Given the description of an element on the screen output the (x, y) to click on. 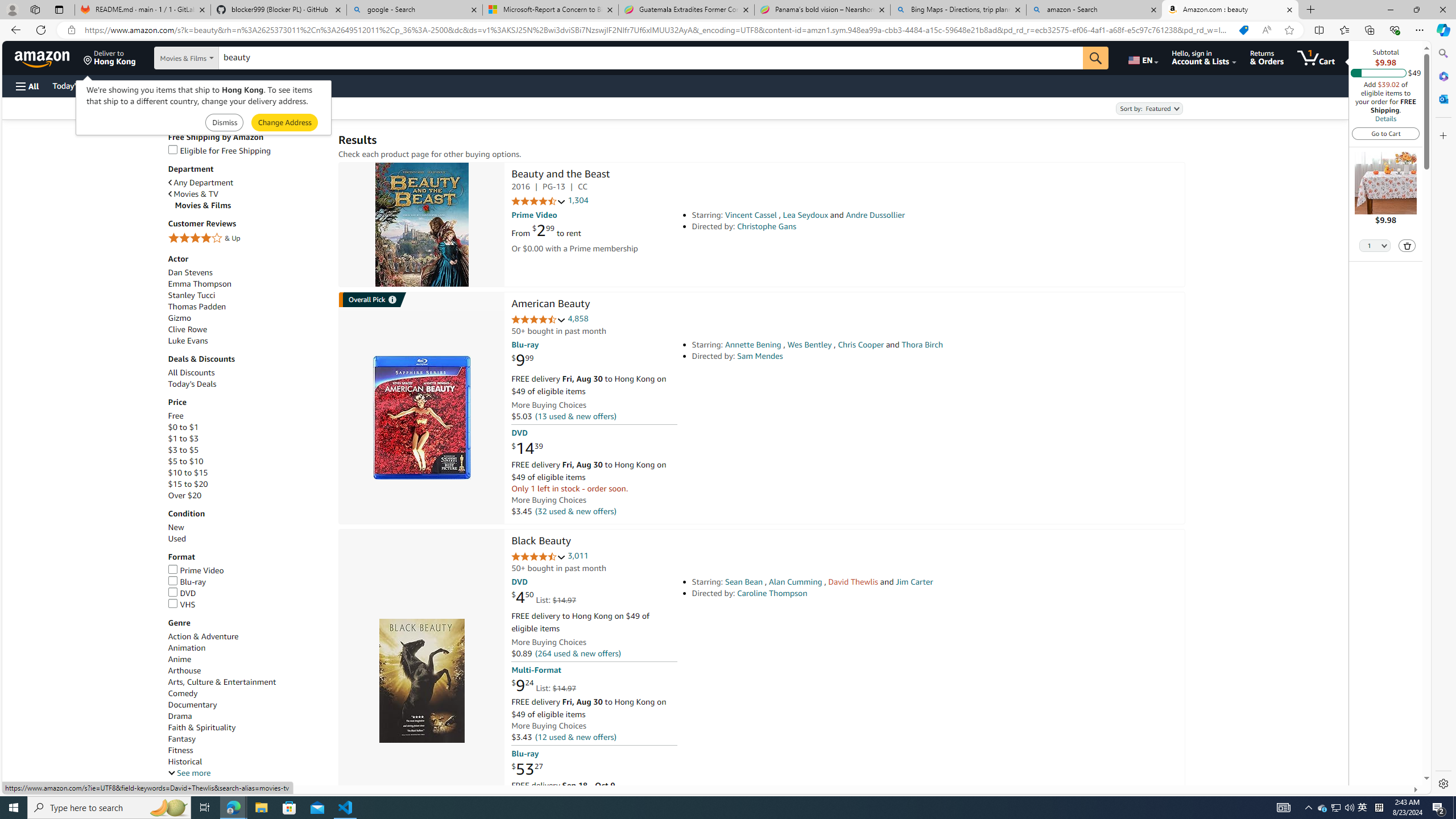
$3 to $5 (247, 450)
Movies & Films (250, 205)
Stanley Tucci (191, 294)
Delete (1407, 245)
Prime Video (247, 570)
Andre Dussollier (874, 214)
Gizmo (247, 317)
Multi-Format (536, 670)
Thomas Padden (196, 306)
Chris Cooper (860, 344)
$0 to $1 (183, 426)
